Given the description of an element on the screen output the (x, y) to click on. 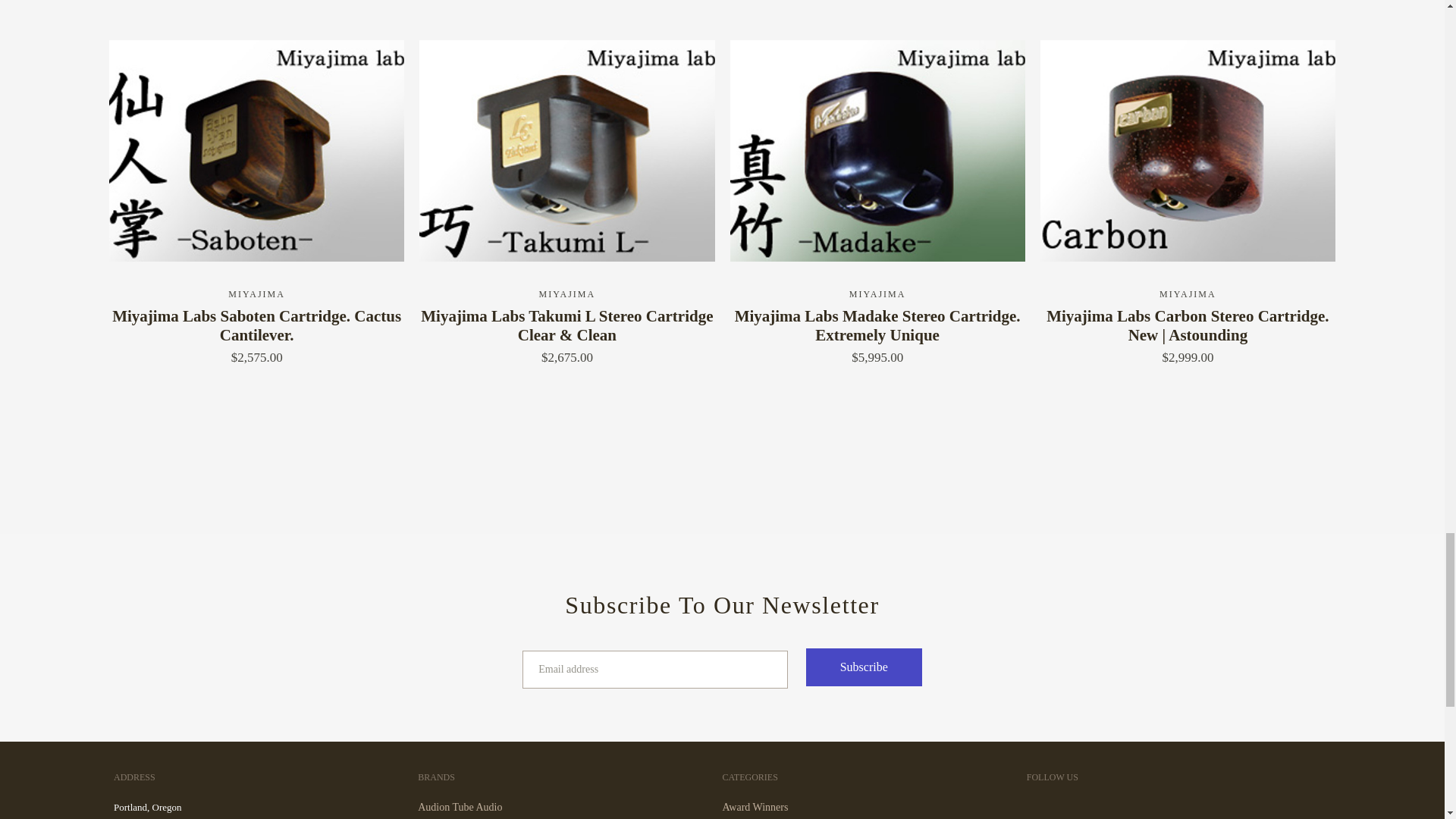
Subscribe (863, 666)
